Given the description of an element on the screen output the (x, y) to click on. 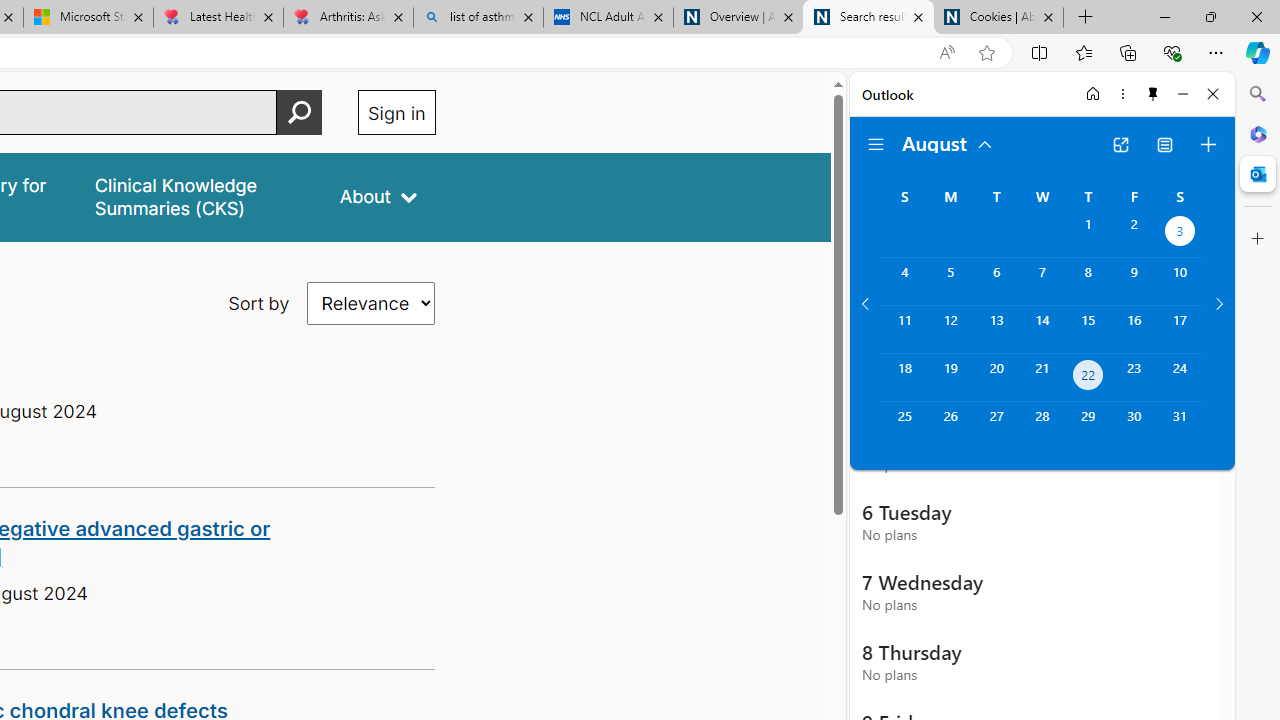
Wednesday, August 28, 2024.  (1042, 425)
Close Outlook pane (1258, 174)
NCL Adult Asthma Inhaler Choice Guideline (608, 17)
Search results | NICE (868, 17)
Saturday, August 31, 2024.  (1180, 425)
Thursday, August 29, 2024.  (1088, 425)
Open in new tab (1120, 144)
Tuesday, August 13, 2024.  (996, 329)
More options (1122, 93)
